Given the description of an element on the screen output the (x, y) to click on. 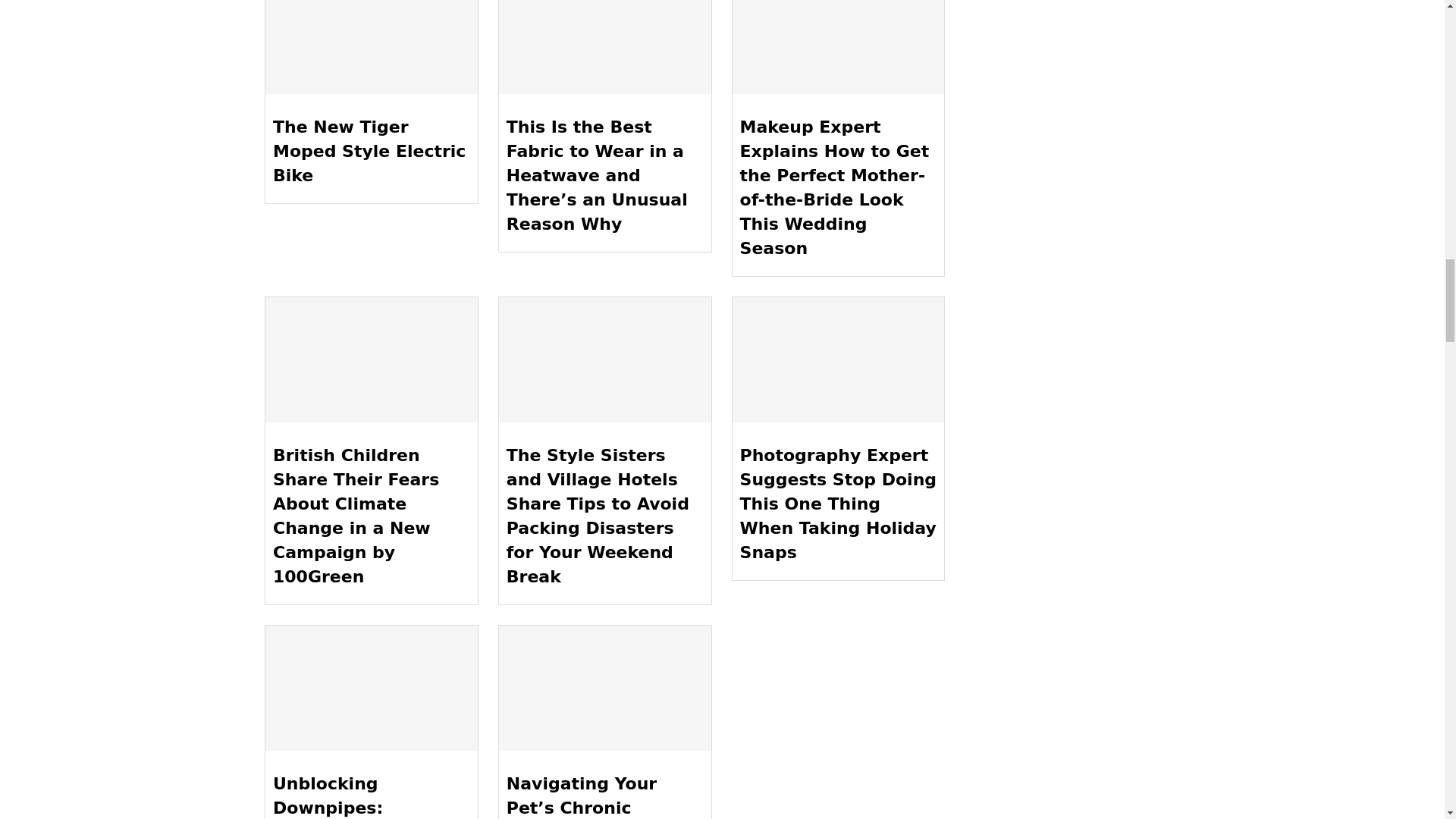
The New Tiger Moped Style Electric Bike (370, 47)
Unblocking Downpipes: Cre8flow Drain Services in Australia (370, 688)
